Given the description of an element on the screen output the (x, y) to click on. 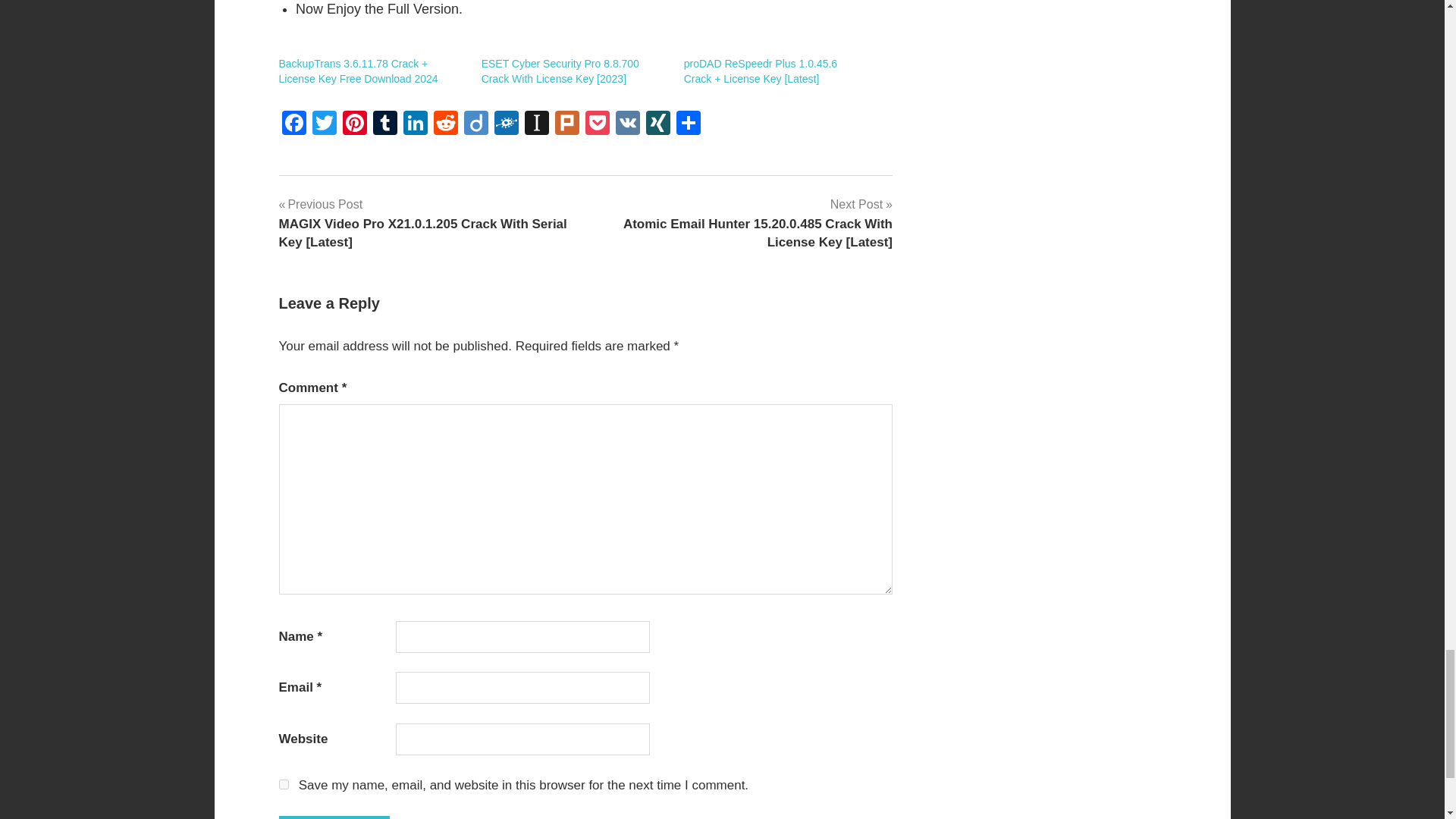
Pinterest (354, 124)
LinkedIn (415, 124)
Folkd (506, 124)
Twitter (323, 124)
Diigo (476, 124)
Post Comment (334, 817)
Tumblr (384, 124)
LinkedIn (415, 124)
Tumblr (384, 124)
Facebook (293, 124)
